Given the description of an element on the screen output the (x, y) to click on. 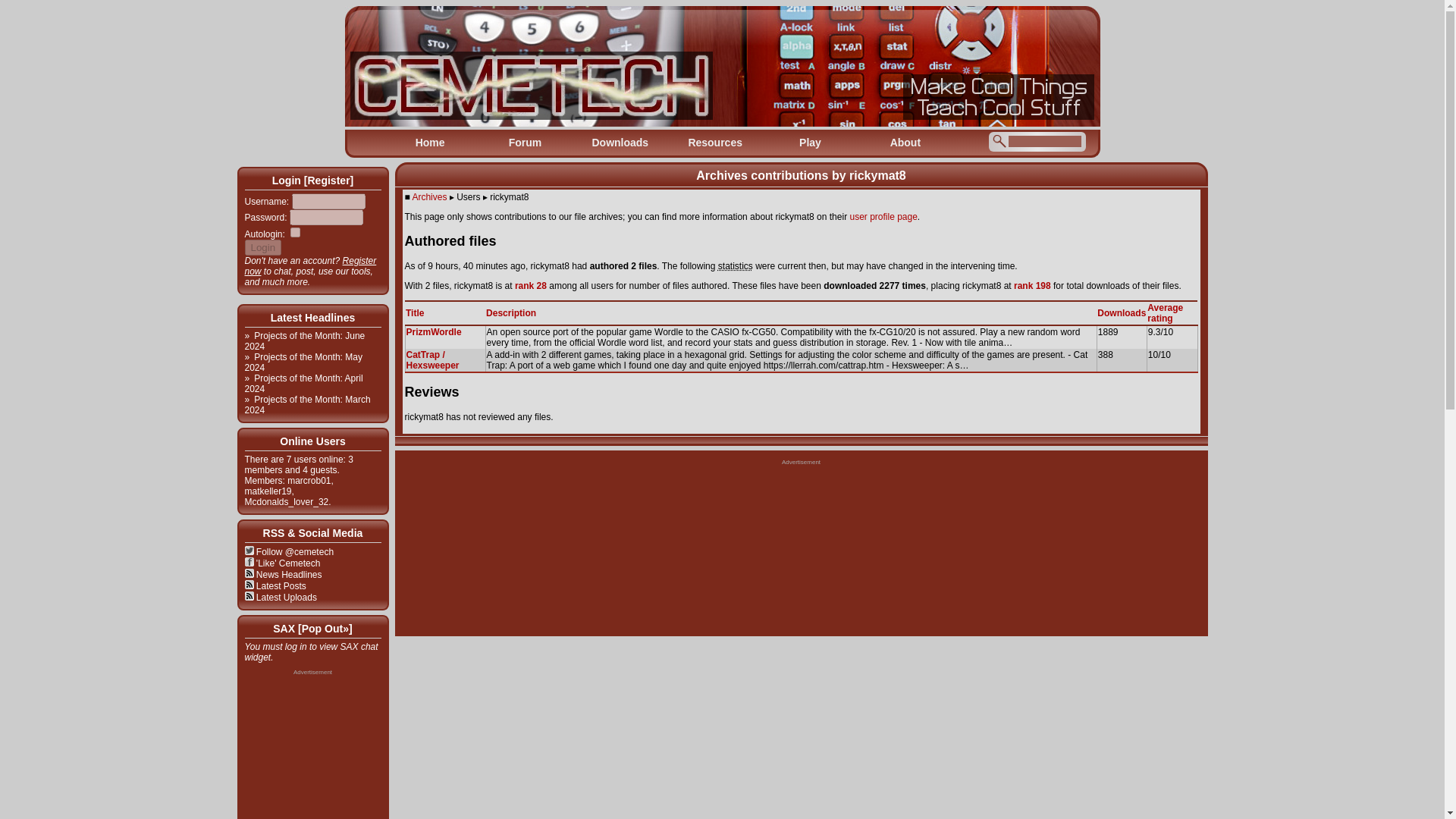
Archives (429, 196)
Resources (714, 142)
PrizmWordle (433, 331)
Play (810, 142)
Average rating (1164, 312)
Advertisement (800, 588)
Latest Headlines (312, 317)
Forum (524, 142)
About (905, 142)
Login (262, 247)
